Given the description of an element on the screen output the (x, y) to click on. 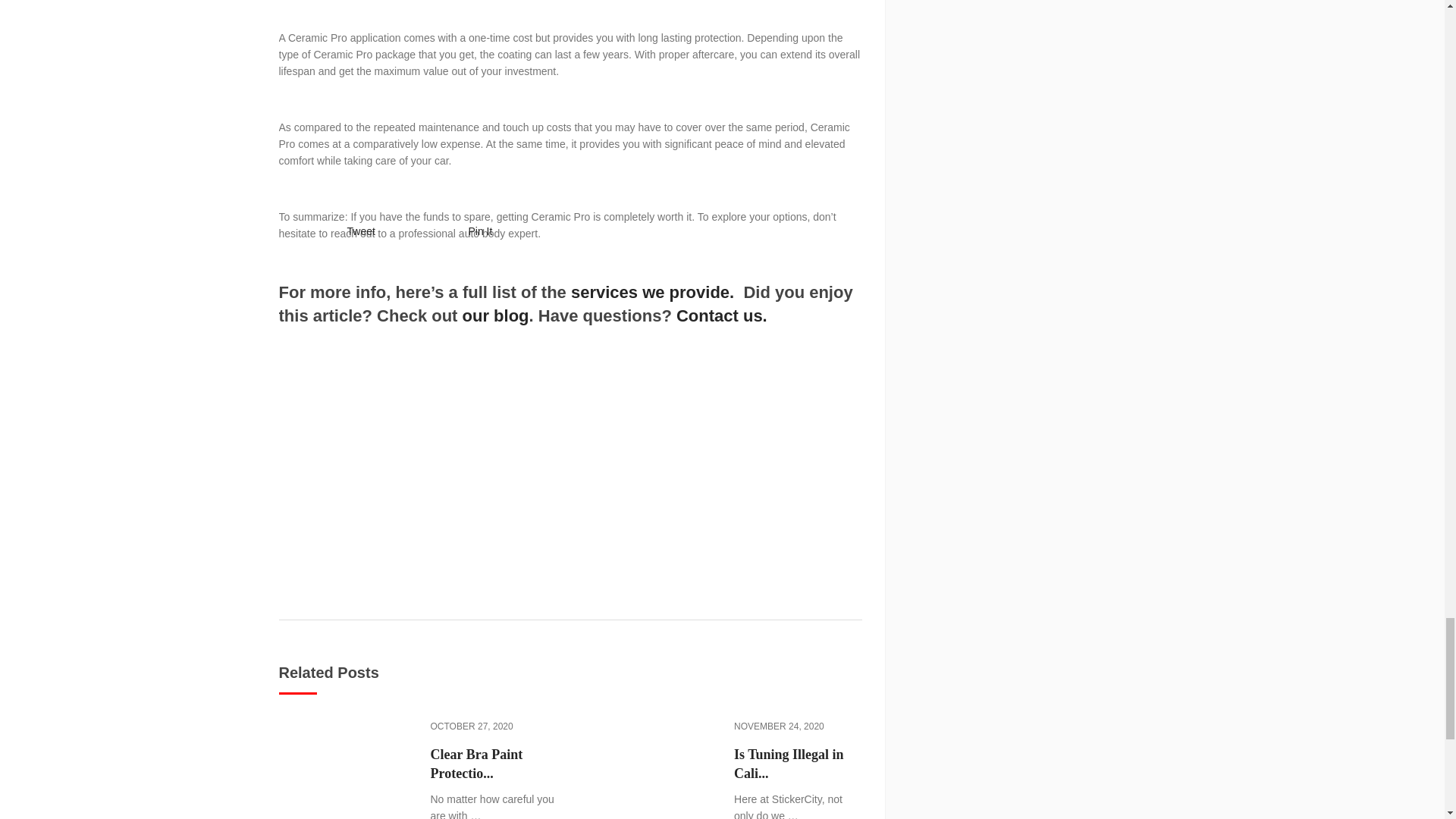
Is Tuning Illegal in Cali... (797, 763)
Is Tuning Illegal in California? (797, 763)
Contact us. (722, 315)
services we provide. (651, 292)
our blog (496, 315)
Clear Bra Paint Protection Cost in Los Angeles (494, 763)
Clear Bra Paint Protectio... (494, 763)
